Given the description of an element on the screen output the (x, y) to click on. 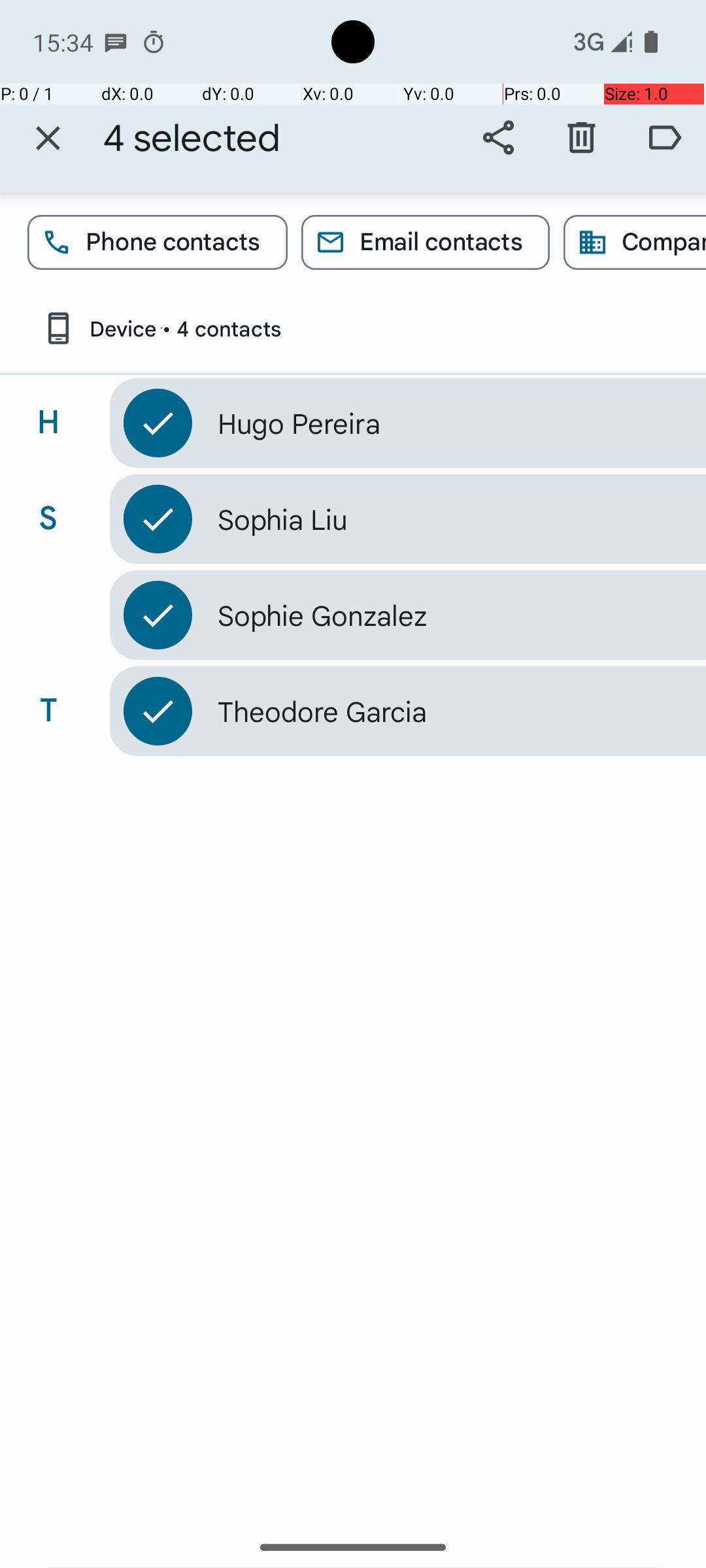
close Element type: android.widget.ImageButton (48, 138)
4 selected Element type: android.widget.TextView (191, 138)
Add to label Element type: android.widget.Button (664, 137)
Device • 4 contacts Element type: android.widget.TextView (161, 328)
Hugo Pereira Element type: android.widget.TextView (434, 422)
Sophia Liu Element type: android.widget.TextView (434, 518)
Sophie Gonzalez Element type: android.widget.TextView (434, 614)
Theodore Garcia Element type: android.widget.TextView (434, 710)
SMS Messenger notification: Sophie Gonzalez Element type: android.widget.ImageView (115, 41)
